Given the description of an element on the screen output the (x, y) to click on. 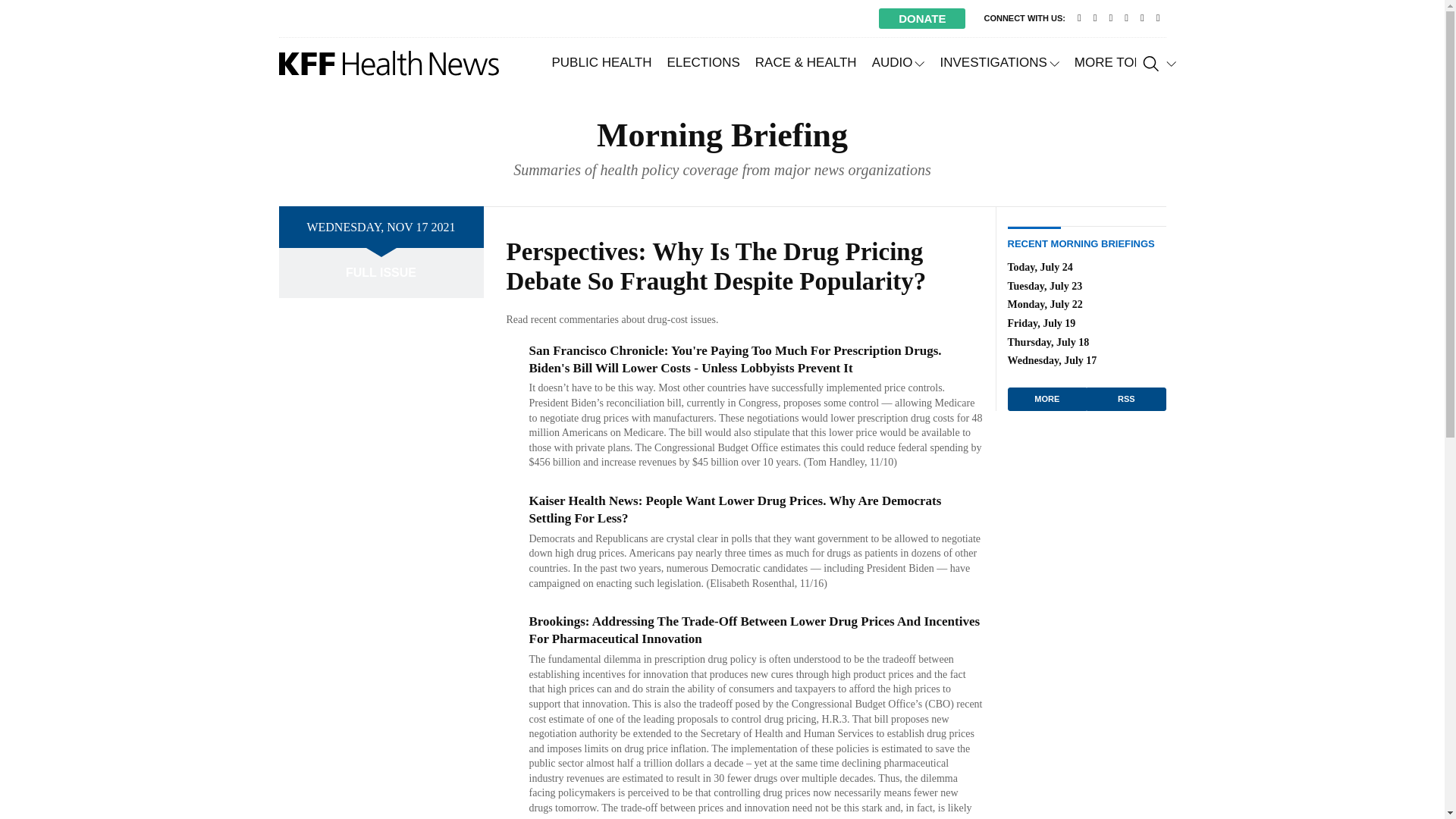
KFF Health News (389, 63)
MORE TOPICS (1125, 61)
PUBLIC HEALTH (601, 61)
AUDIO (898, 61)
ELECTIONS (702, 61)
DONATE (922, 18)
INVESTIGATIONS (998, 61)
